Given the description of an element on the screen output the (x, y) to click on. 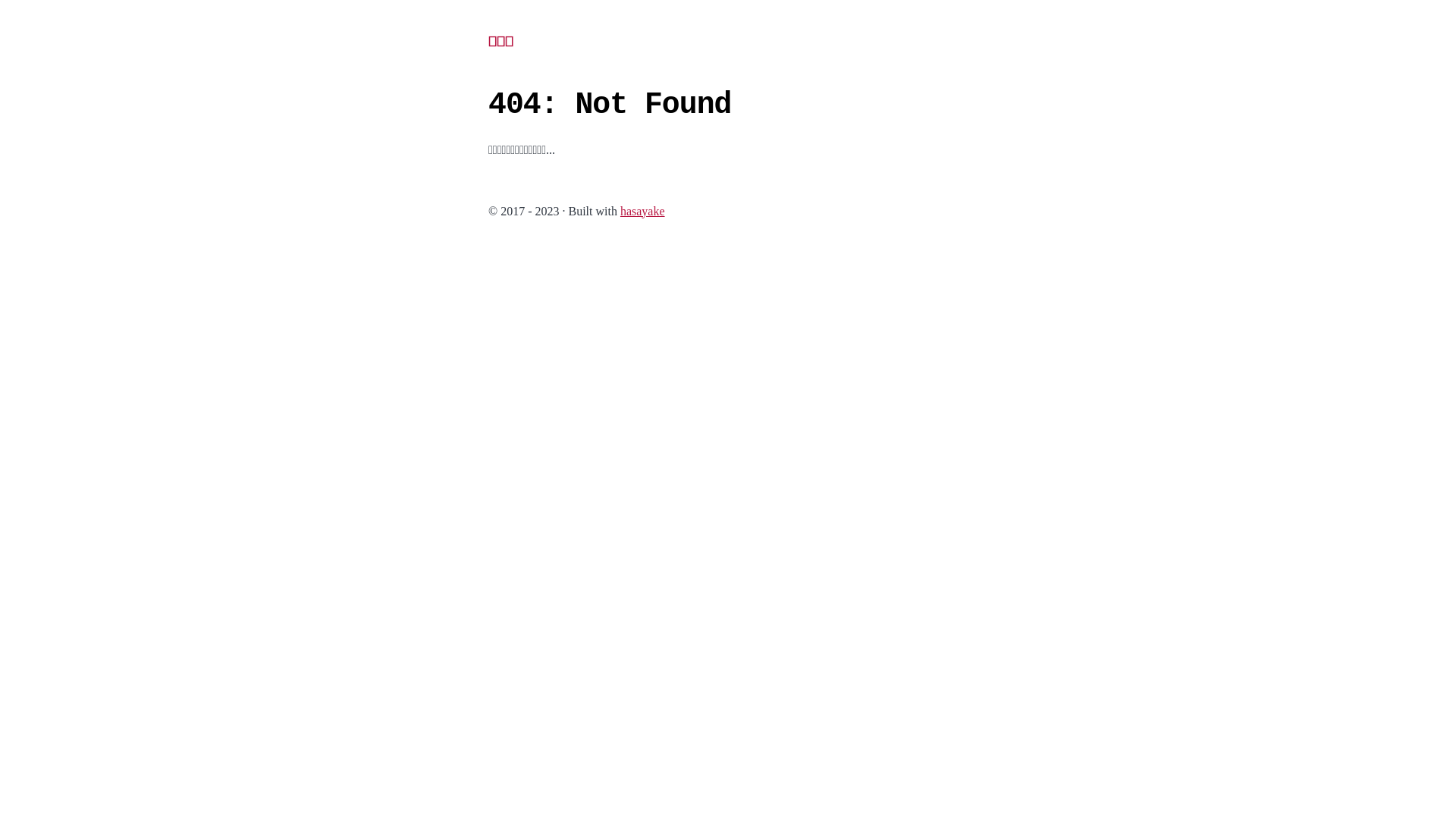
hasayake Element type: text (642, 210)
